Given the description of an element on the screen output the (x, y) to click on. 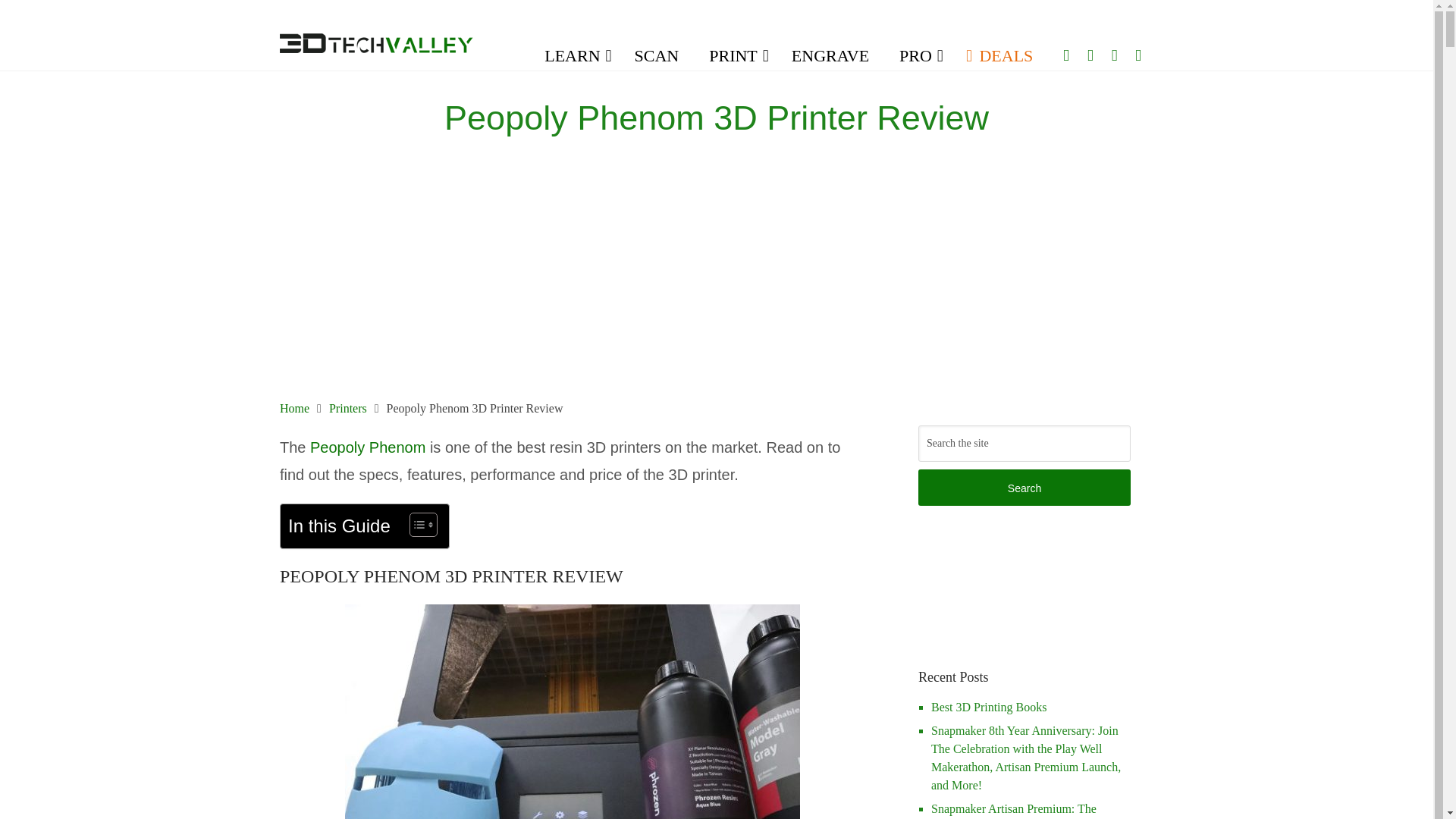
ENGRAVE (829, 55)
Home (293, 408)
Printers (347, 408)
LEARN (573, 55)
View all posts in Printers (787, 164)
Printers (787, 164)
PRINT (735, 55)
SCAN (657, 55)
Posts by Charles (637, 164)
PRO (916, 55)
Charles (637, 164)
DEALS (999, 55)
Peopoly Phenom (367, 446)
No Comments (712, 327)
